Given the description of an element on the screen output the (x, y) to click on. 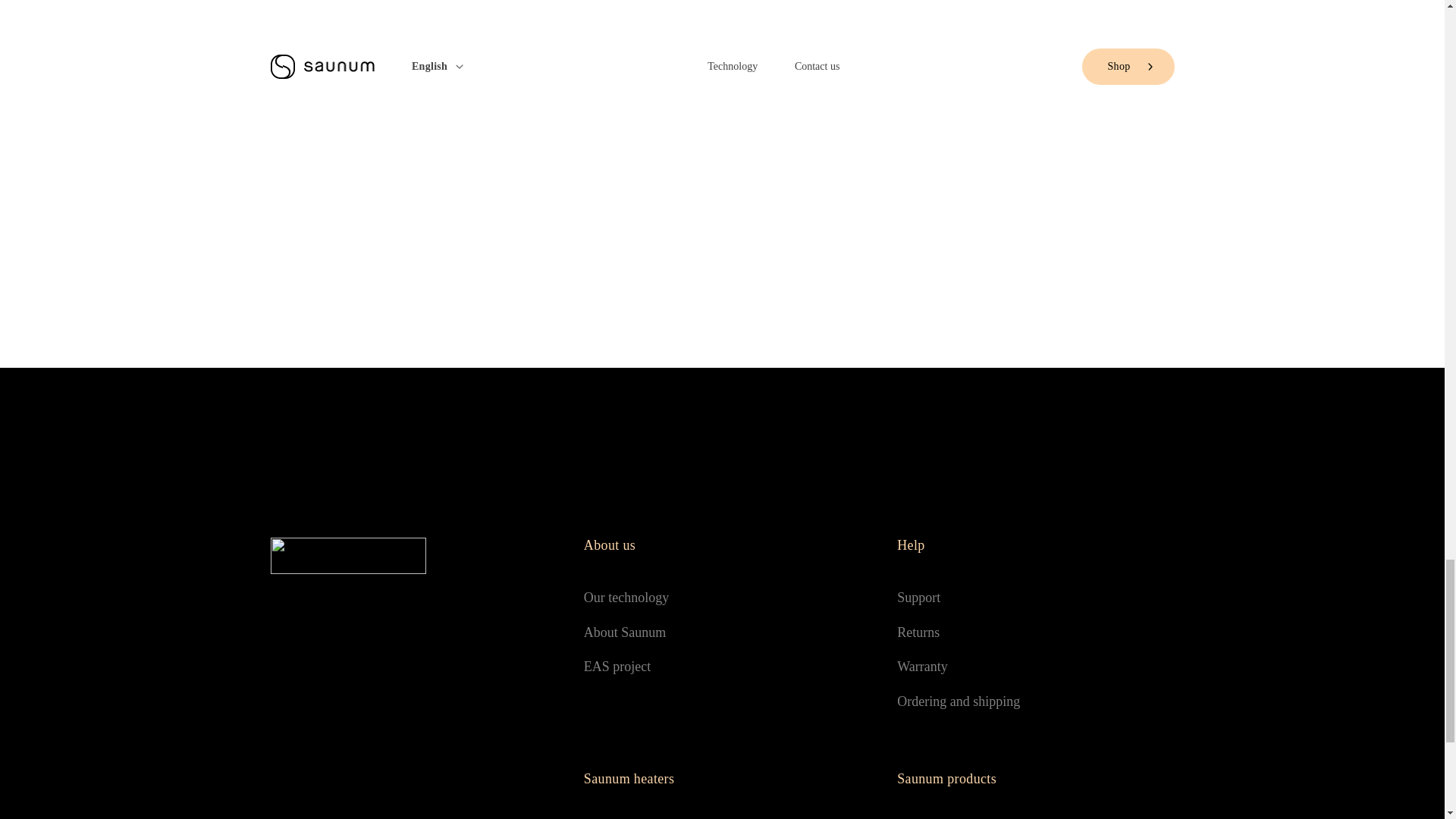
Returns (1034, 632)
Our technology (721, 597)
Ordering and shipping (1034, 701)
Support (1034, 597)
Warranty (1034, 667)
EAS project (721, 667)
Saunum products (1034, 778)
Saunum heaters (721, 778)
Saunum Control systems (1034, 816)
Help (1034, 545)
